Given the description of an element on the screen output the (x, y) to click on. 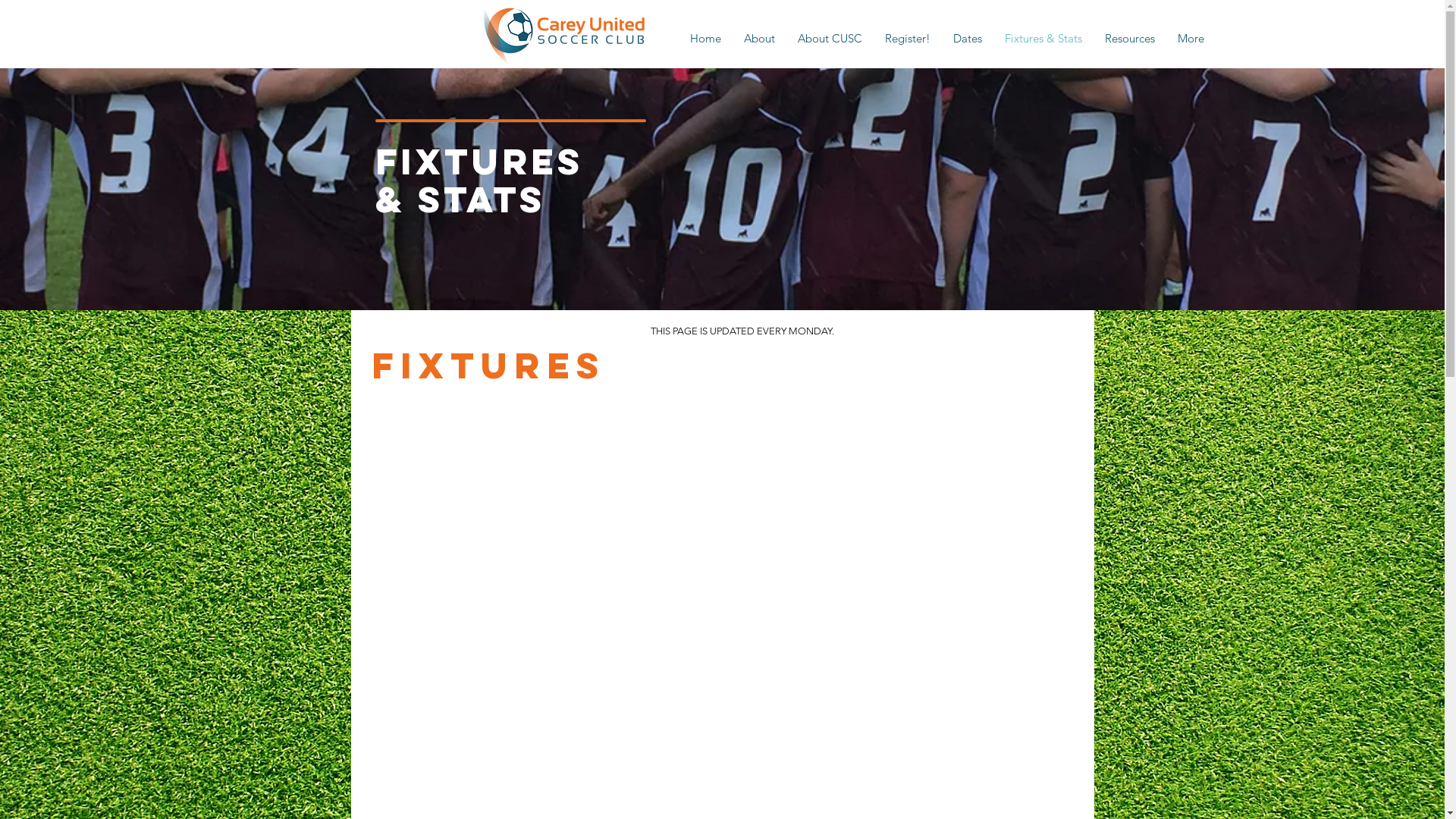
About Element type: text (759, 38)
Register! Element type: text (907, 38)
Table Master Element type: hover (723, 573)
Dates Element type: text (967, 38)
Home Element type: text (705, 38)
Table Master Element type: hover (723, 451)
Table Master Element type: hover (723, 695)
About CUSC Element type: text (829, 38)
Fixtures & Stats Element type: text (1043, 38)
Resources Element type: text (1129, 38)
